Given the description of an element on the screen output the (x, y) to click on. 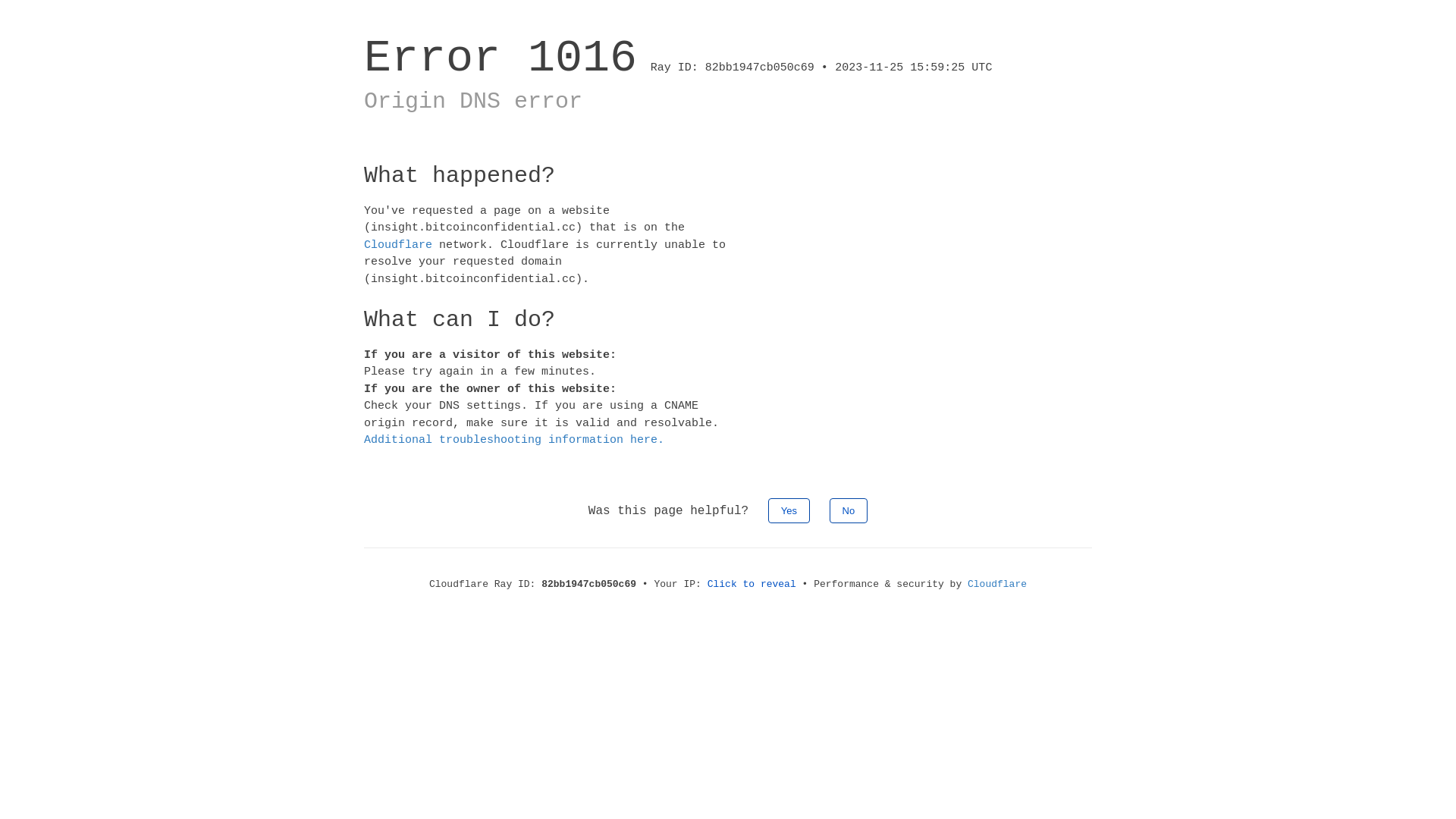
Yes Element type: text (788, 509)
No Element type: text (848, 509)
Click to reveal Element type: text (751, 583)
Cloudflare Element type: text (996, 583)
Cloudflare Element type: text (398, 244)
Additional troubleshooting information here. Element type: text (514, 439)
